Given the description of an element on the screen output the (x, y) to click on. 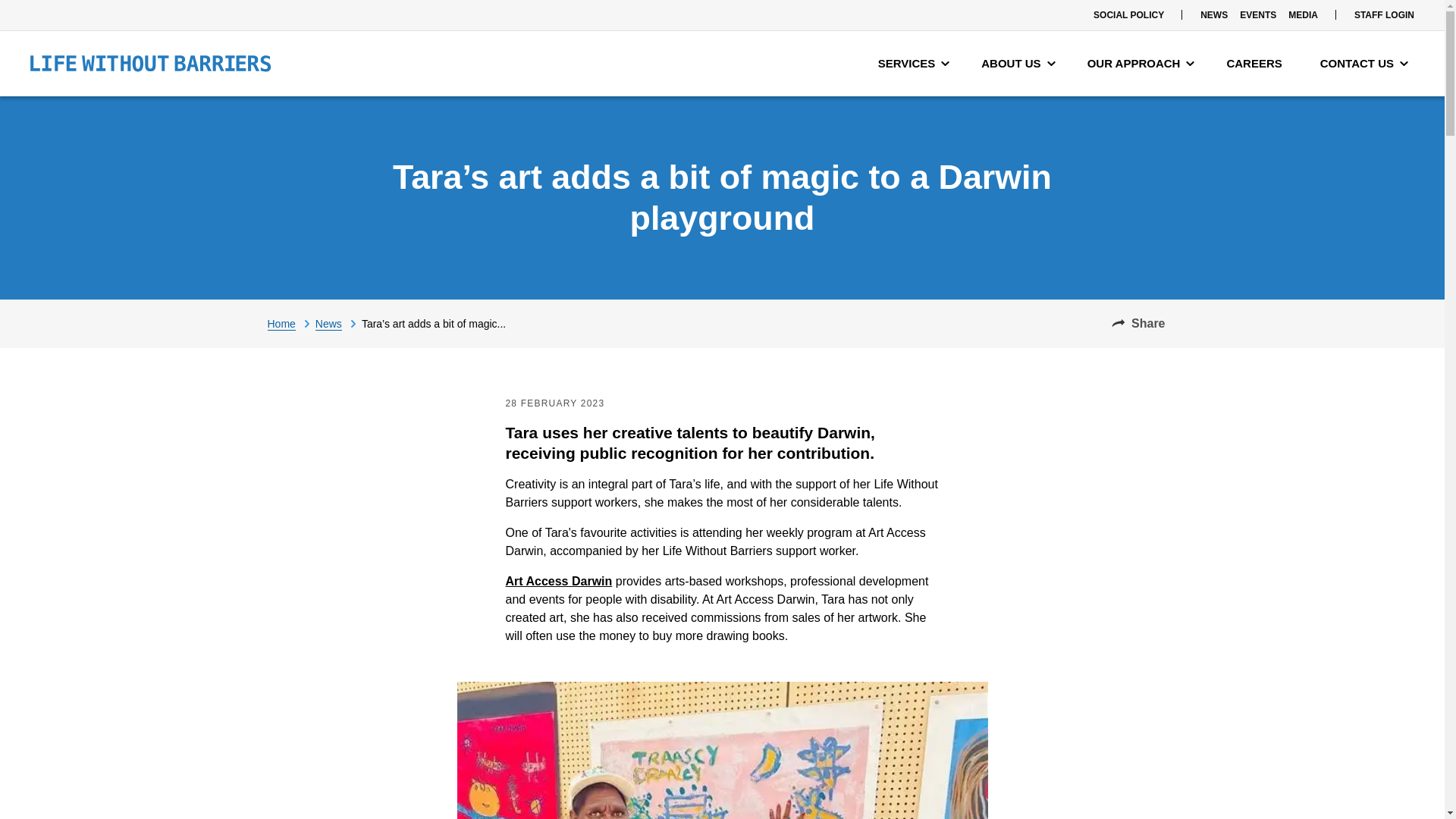
Contact us (1364, 63)
Return to news page (338, 322)
CAREERS (1257, 63)
MEDIA (1302, 15)
Return navigation (290, 322)
About us (1018, 63)
SOCIAL POLICY (1128, 15)
EVENTS (1257, 15)
STAFF LOGIN (1384, 15)
Careers (1257, 63)
NEWS (1213, 15)
Art Access Darwin (558, 581)
Share (1137, 322)
Life Without Barriers (150, 63)
Services (914, 63)
